Given the description of an element on the screen output the (x, y) to click on. 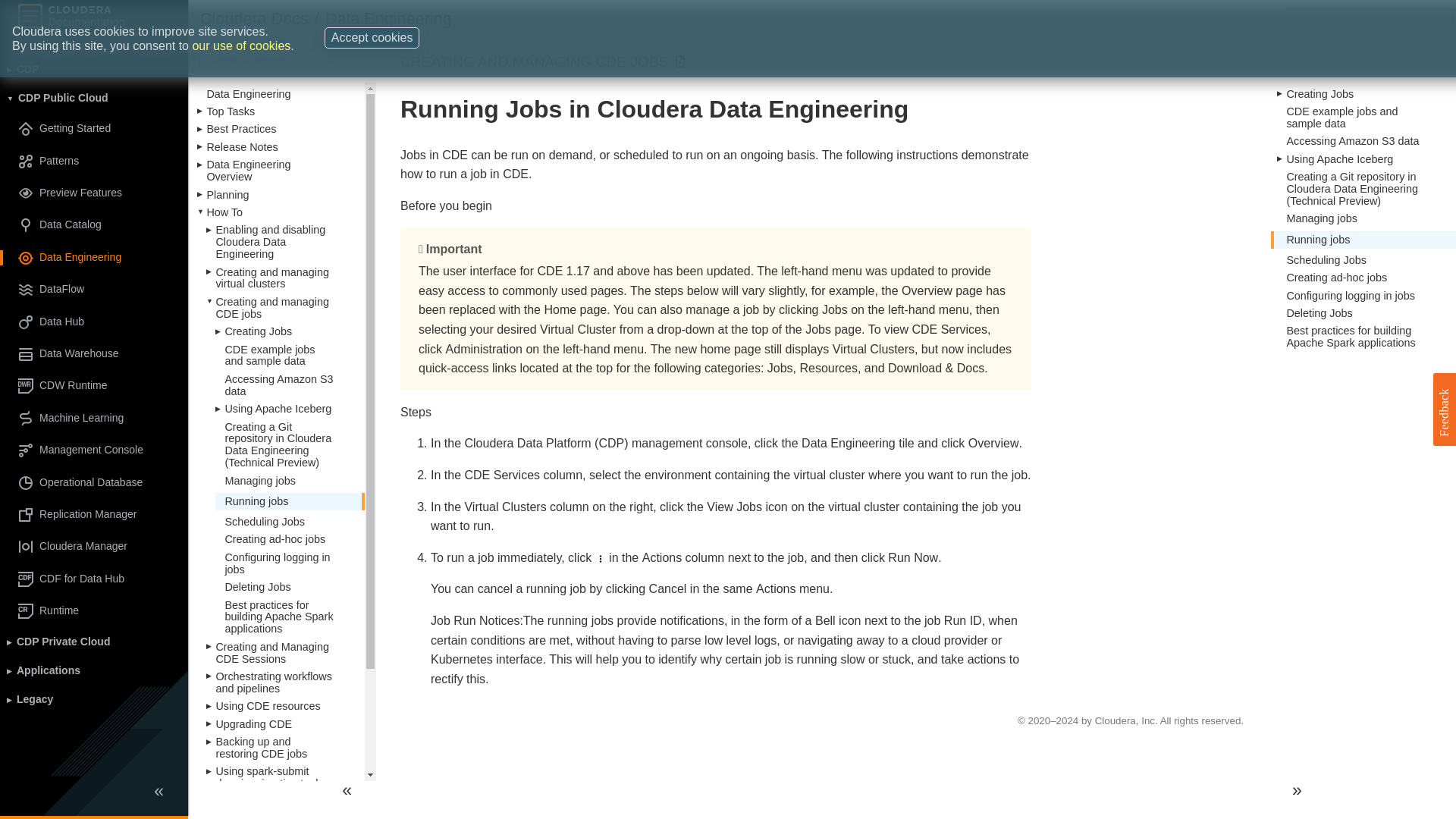
Management Console (93, 450)
Cloudera Manager (93, 546)
Preview Features (93, 192)
Getting Started (93, 128)
Operational Database (93, 482)
Data Engineering (93, 257)
Replication Manager (93, 514)
Runtime (93, 611)
CDW Runtime (93, 385)
Data Engineering (387, 18)
